Given the description of an element on the screen output the (x, y) to click on. 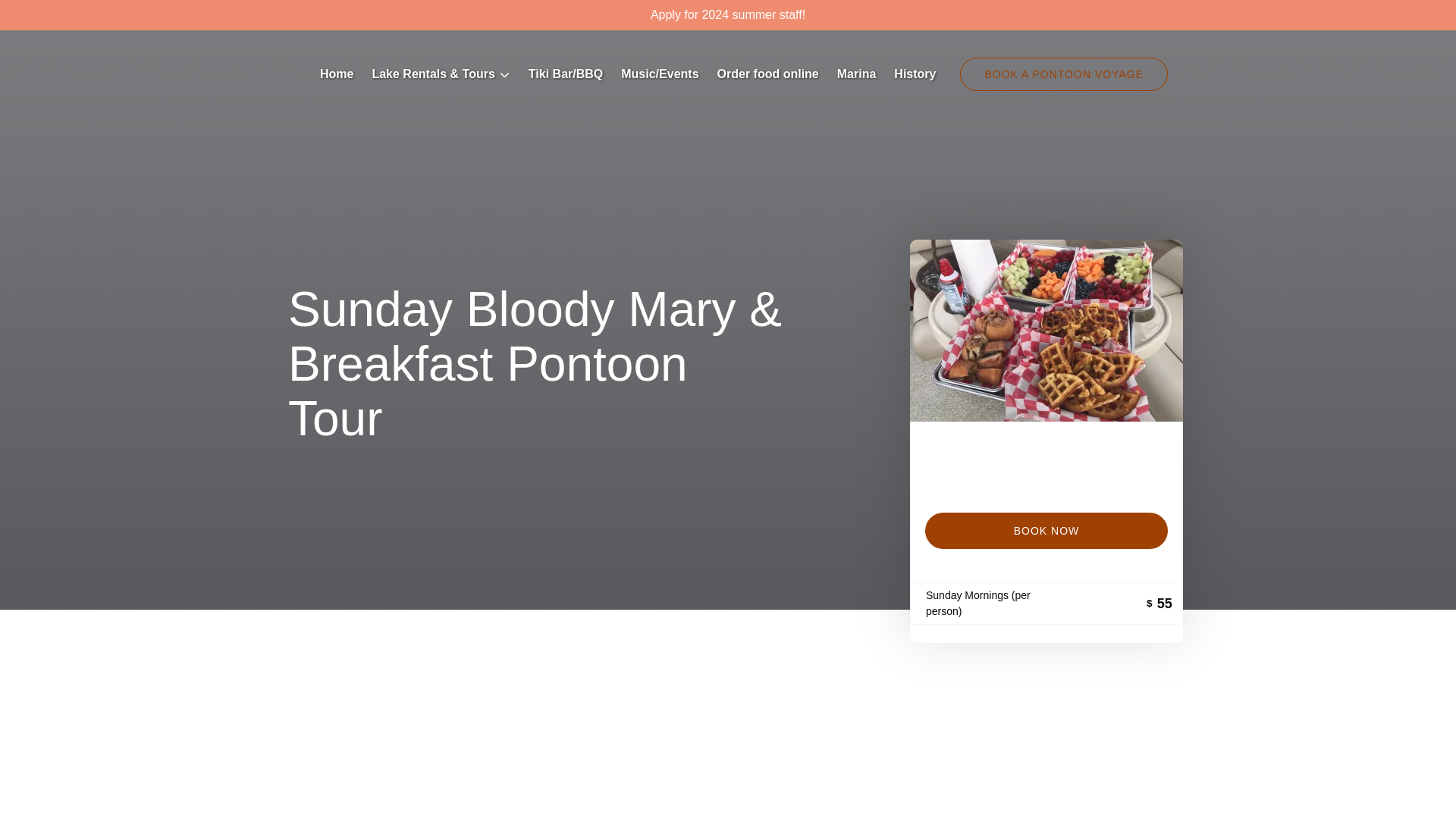
BOOK NOW (1045, 530)
Home (336, 74)
Skip to content (47, 16)
Skip to footer (42, 16)
History (914, 74)
Order food online (767, 74)
BOOK A PONTOON VOYAGE (1063, 73)
Marina (856, 74)
Skip to primary navigation (77, 16)
